Given the description of an element on the screen output the (x, y) to click on. 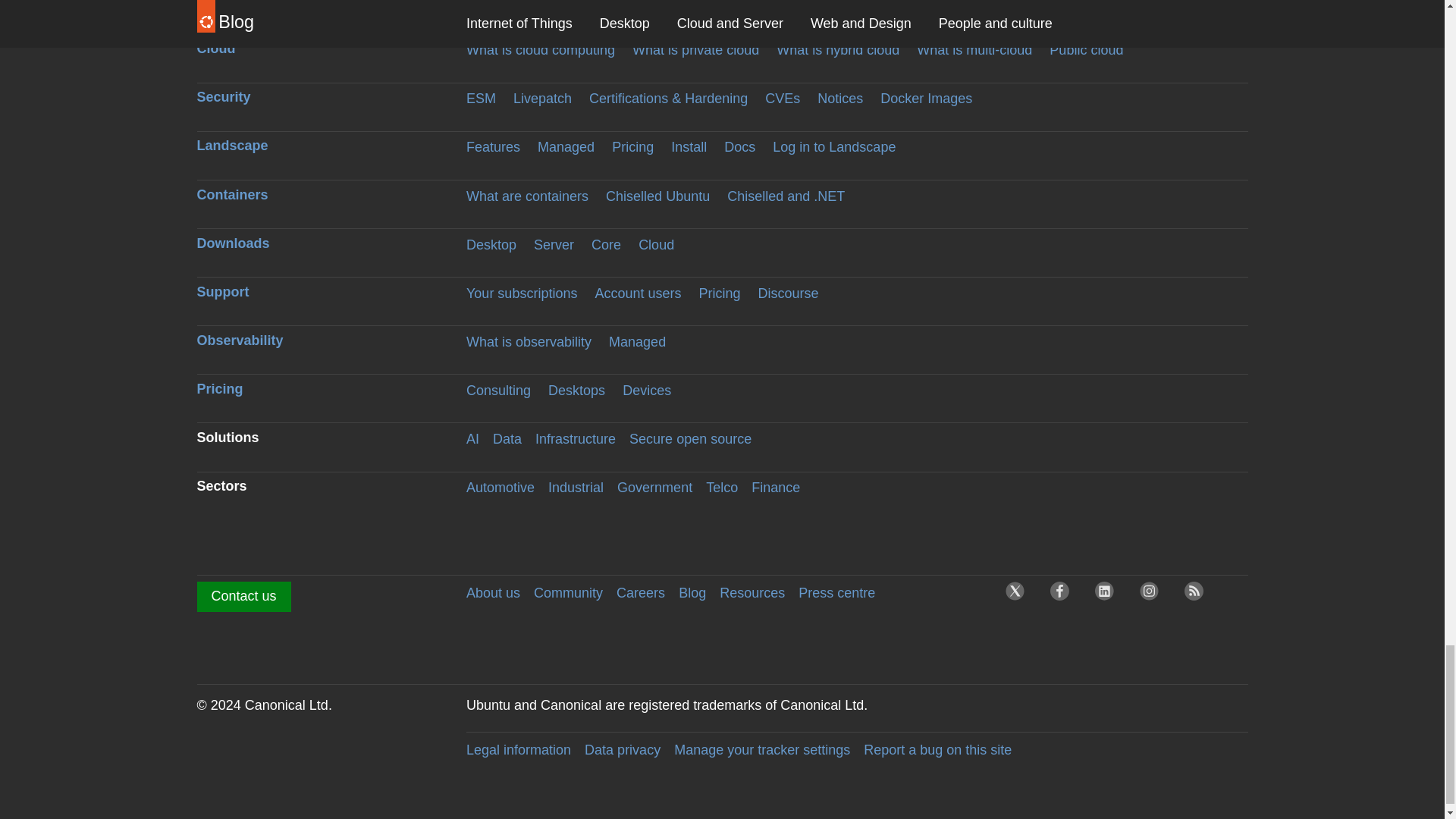
Find Canonical on LinkedIn (1108, 595)
Follow Ubuntu on Instagram (1153, 595)
Use the Ubuntu Blog rss feed (1198, 595)
Follow Ubuntu on Facebook (1063, 595)
Follow Ubuntu on Twitter (1019, 595)
